Given the description of an element on the screen output the (x, y) to click on. 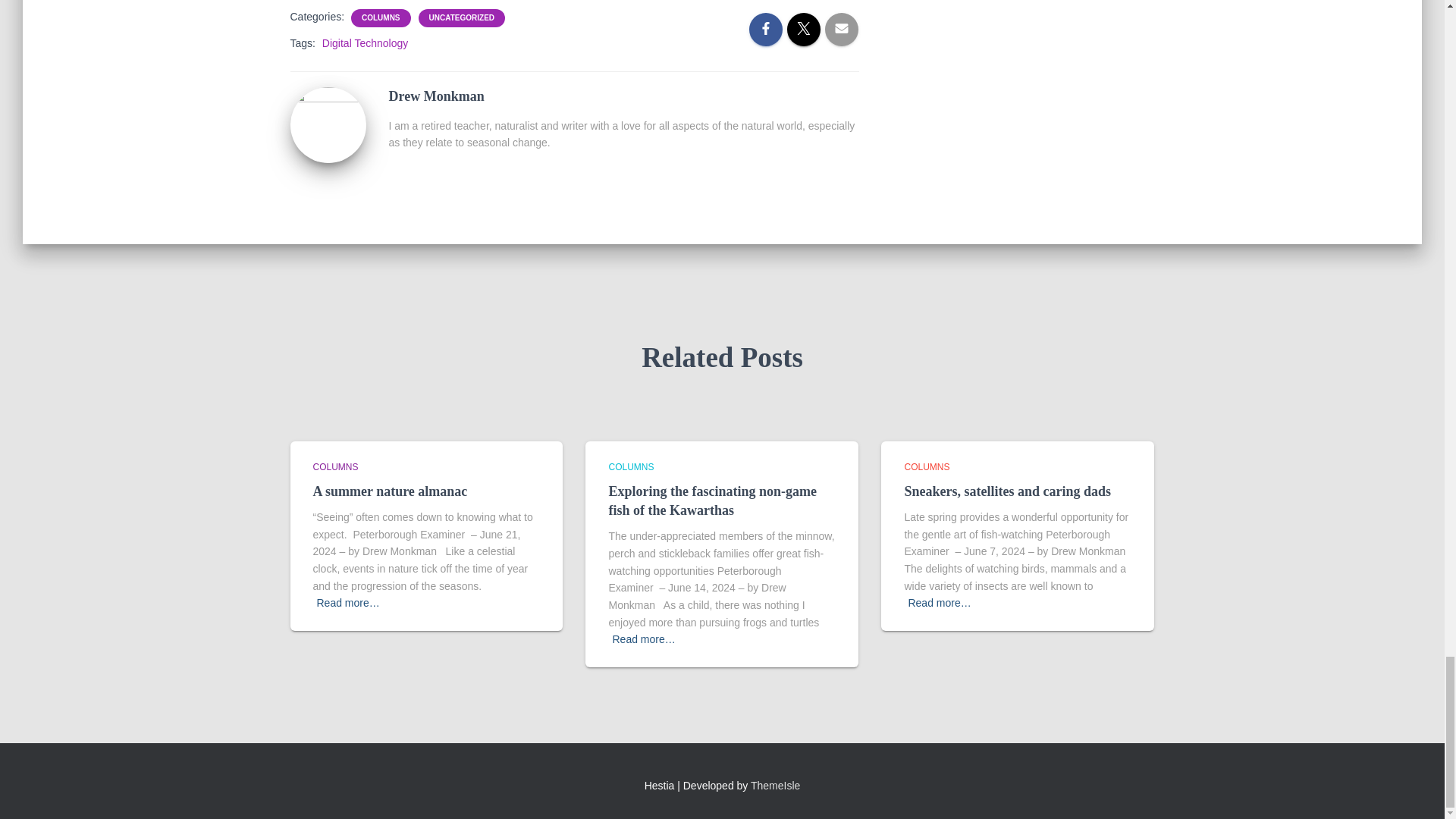
COLUMNS (335, 466)
COLUMNS (380, 18)
Drew Monkman (327, 123)
A summer nature almanac (390, 491)
UNCATEGORIZED (462, 18)
Digital Technology (364, 42)
